Given the description of an element on the screen output the (x, y) to click on. 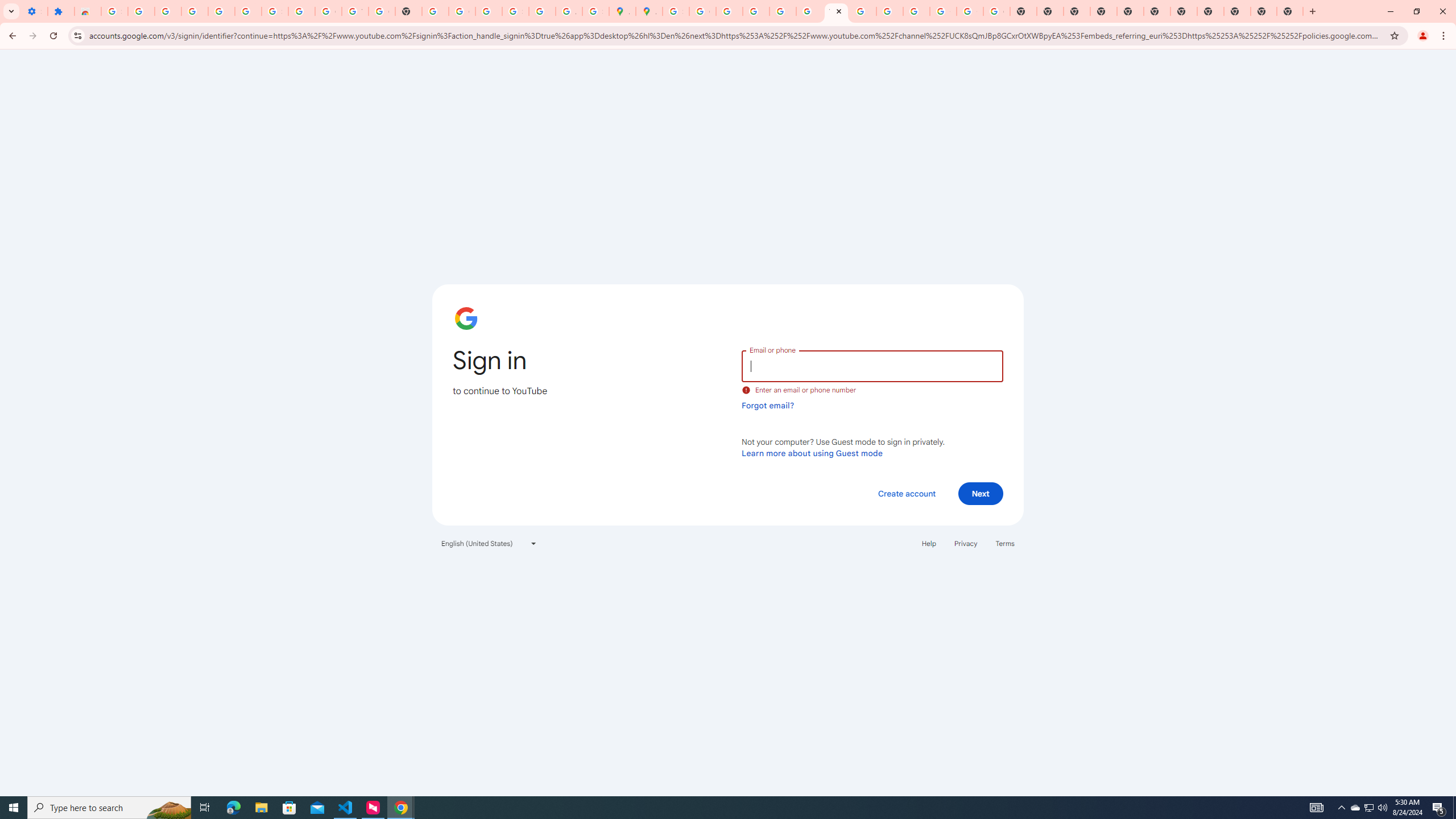
Safety in Our Products - Google Safety Center (595, 11)
Privacy (965, 542)
Terms (1005, 542)
Privacy Help Center - Policies Help (729, 11)
New Tab (1103, 11)
New Tab (1236, 11)
Reviews: Helix Fruit Jump Arcade Game (87, 11)
